Given the description of an element on the screen output the (x, y) to click on. 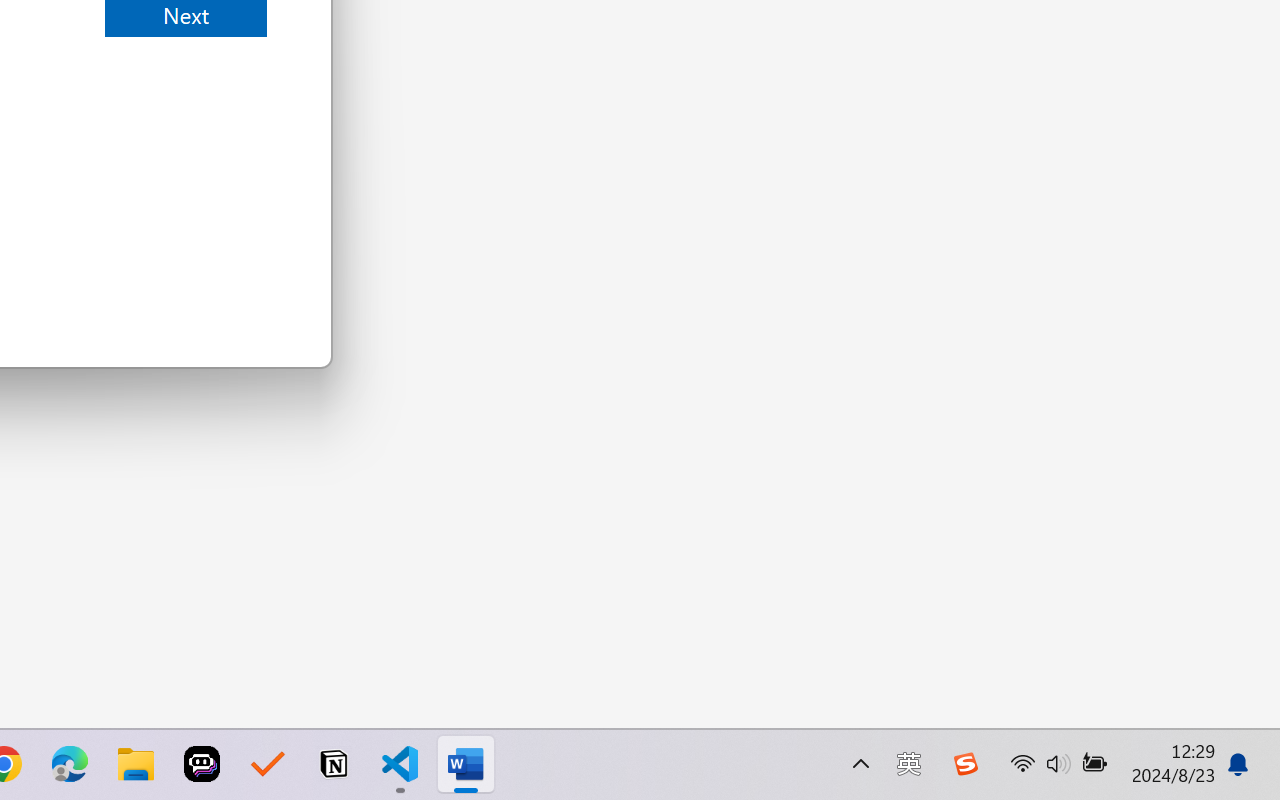
Microsoft Edge (69, 764)
